Given the description of an element on the screen output the (x, y) to click on. 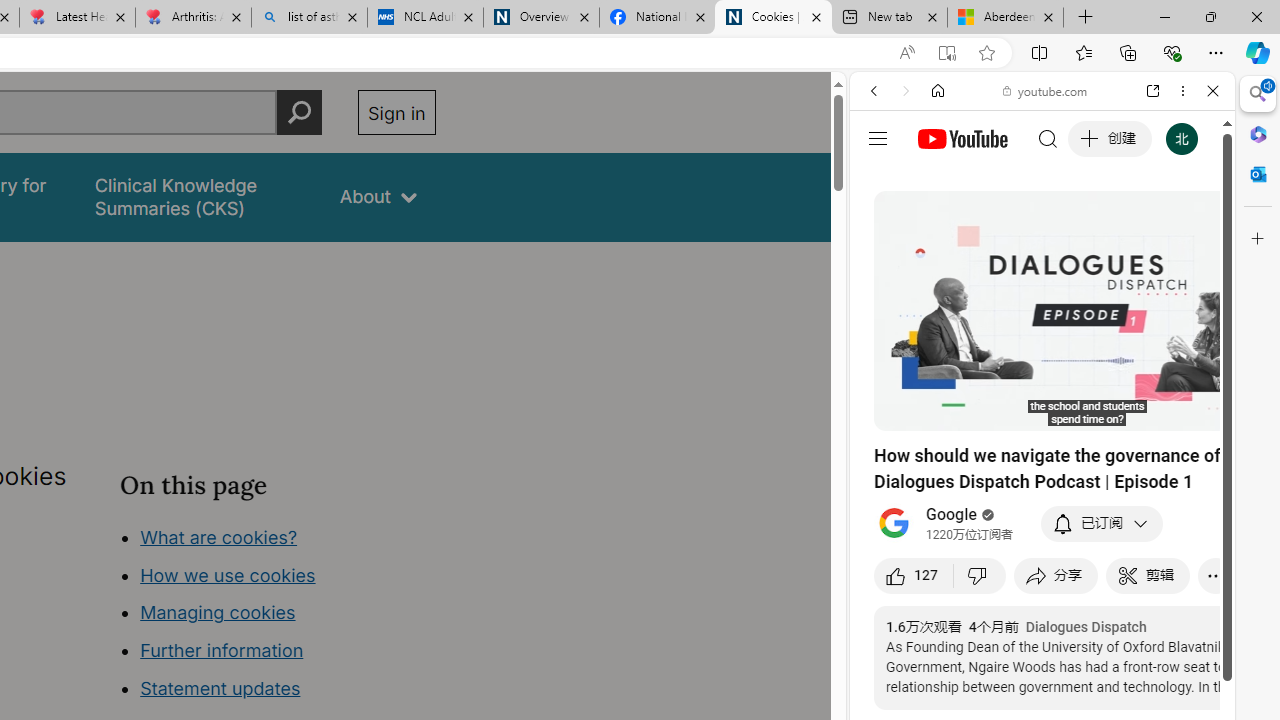
Search Filter, Search Tools (1093, 228)
About (378, 196)
Search Filter, VIDEOS (1006, 228)
Search Filter, WEB (882, 228)
Further information (221, 650)
Class: in-page-nav__list (277, 615)
